Given the description of an element on the screen output the (x, y) to click on. 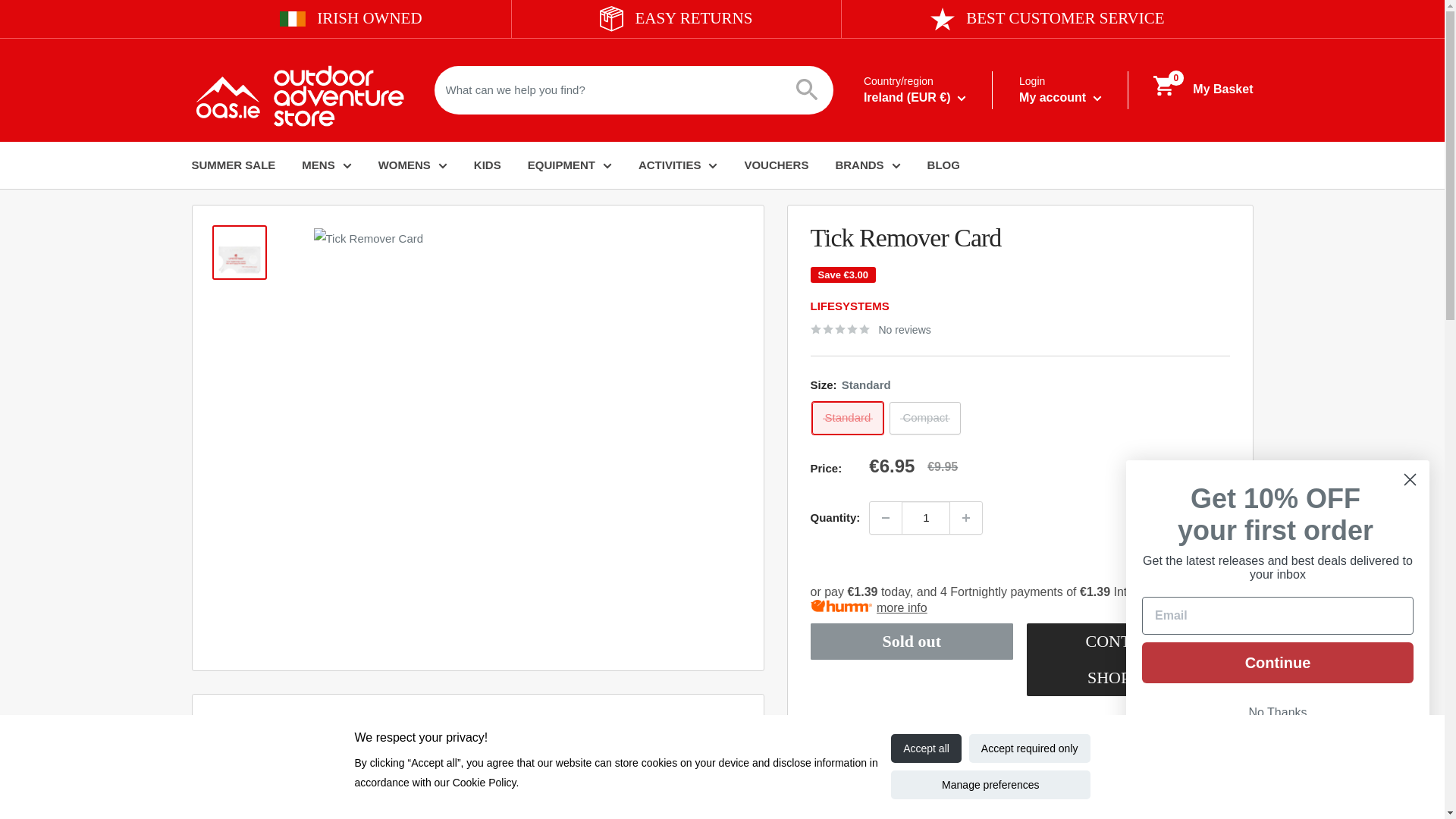
Standard (846, 418)
1 (925, 517)
Compact (924, 418)
Increase quantity by 1 (965, 517)
Accept all (925, 747)
Accept required only (1029, 747)
Decrease quantity by 1 (885, 517)
Manage preferences (990, 784)
